Given the description of an element on the screen output the (x, y) to click on. 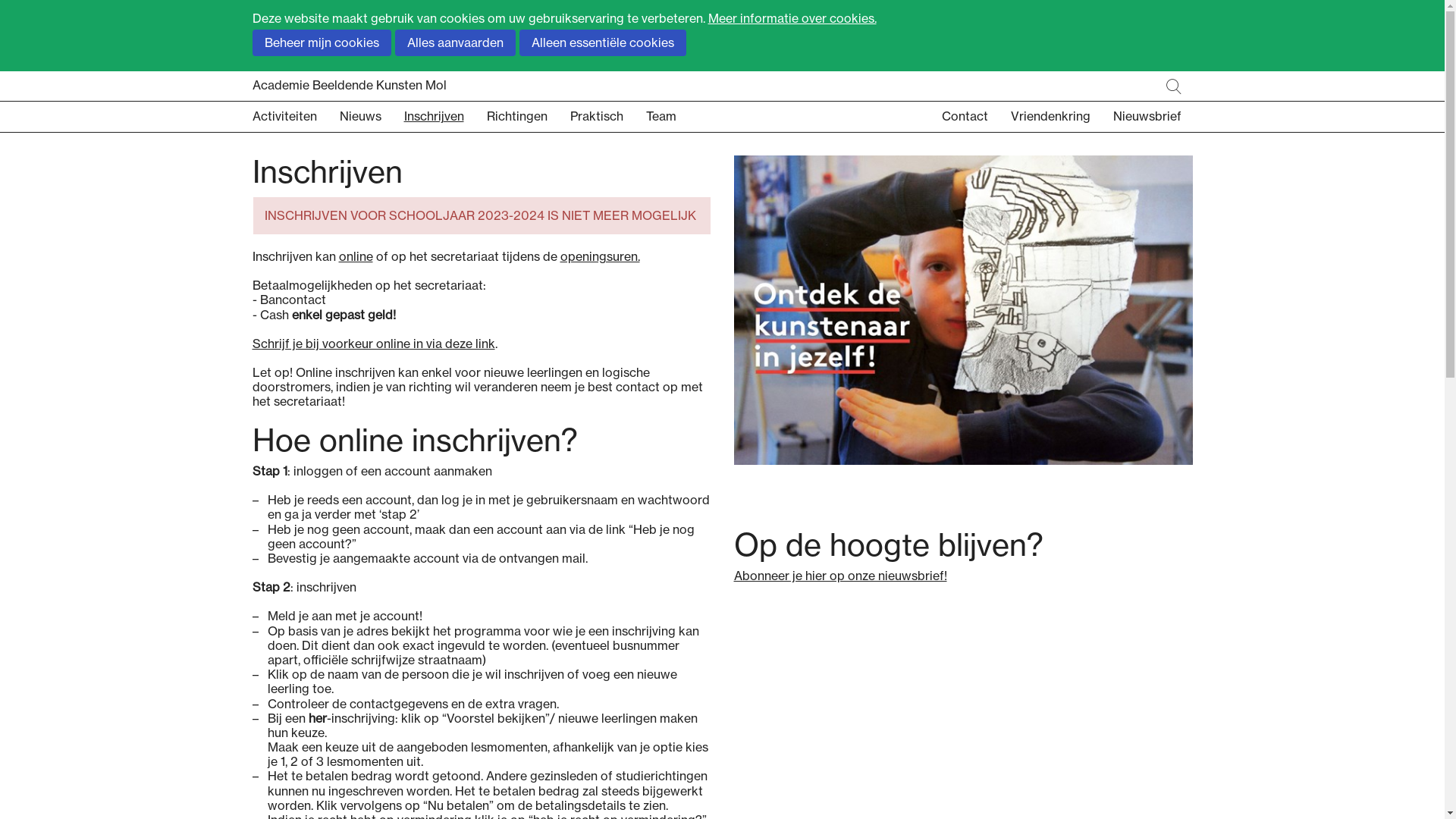
Meer informatie over cookies. Element type: text (792, 17)
Academie Beeldende Kunsten Mol Element type: text (721, 85)
Inschrijven Element type: text (444, 116)
Naar content Element type: text (721, 153)
Alles aanvaarden Element type: text (454, 42)
Beheer mijn cookies Element type: text (320, 42)
Abonneer je hier op onze nieuwsbrief! Element type: text (840, 575)
Zoeken Element type: text (1173, 86)
Richtingen Element type: text (528, 116)
Nieuwsbrief Element type: text (1147, 116)
Vriendenkring Element type: text (1049, 116)
Schrijf je bij voorkeur online in via deze link Element type: text (372, 343)
Contact Element type: text (964, 116)
openingsuren. Element type: text (599, 255)
Praktisch Element type: text (608, 116)
Nieuws Element type: text (371, 116)
Team Element type: text (672, 116)
Activiteiten Element type: text (294, 116)
online Element type: text (355, 255)
